Given the description of an element on the screen output the (x, y) to click on. 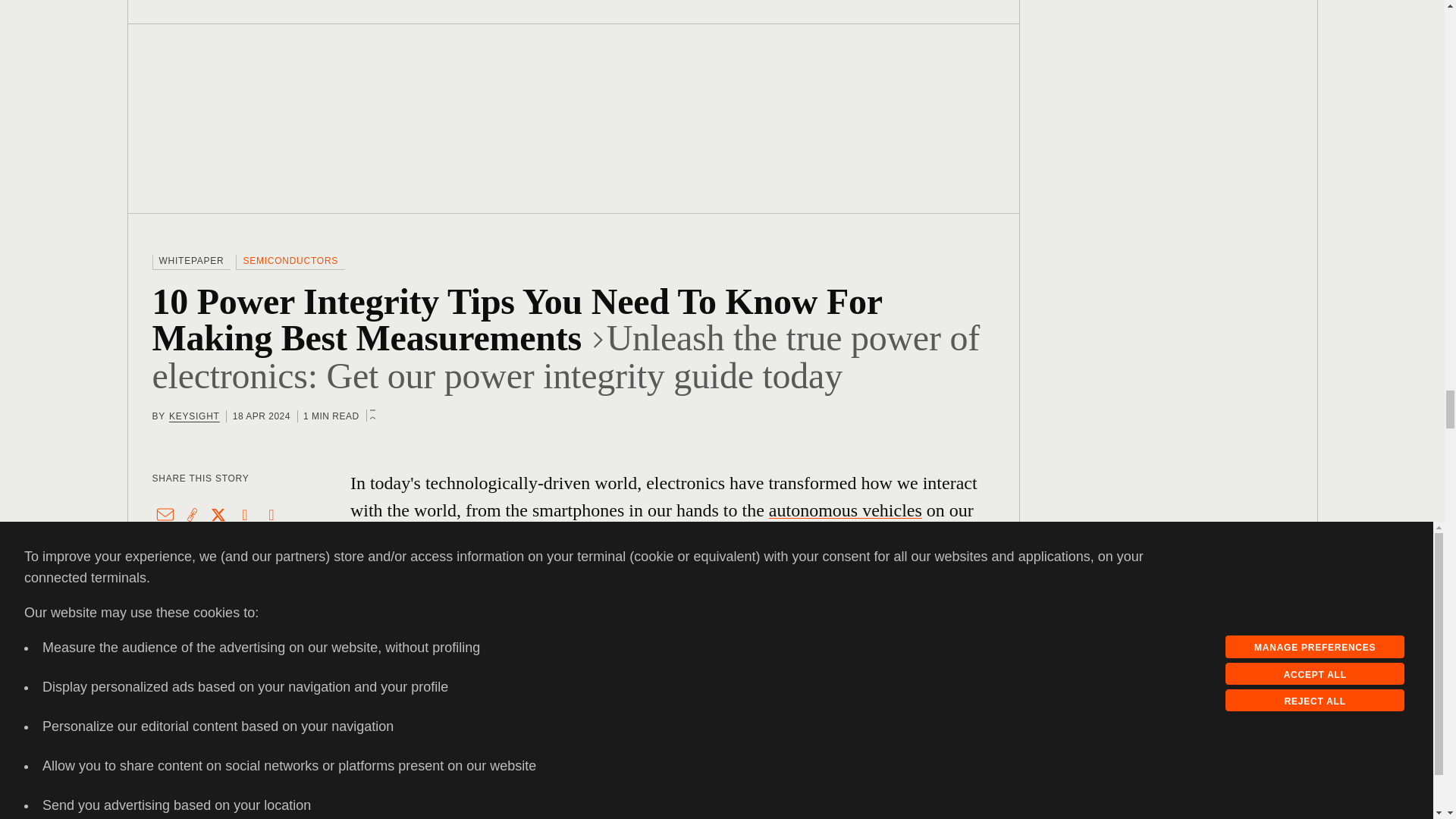
Copy this link to clipboard (192, 514)
